Given the description of an element on the screen output the (x, y) to click on. 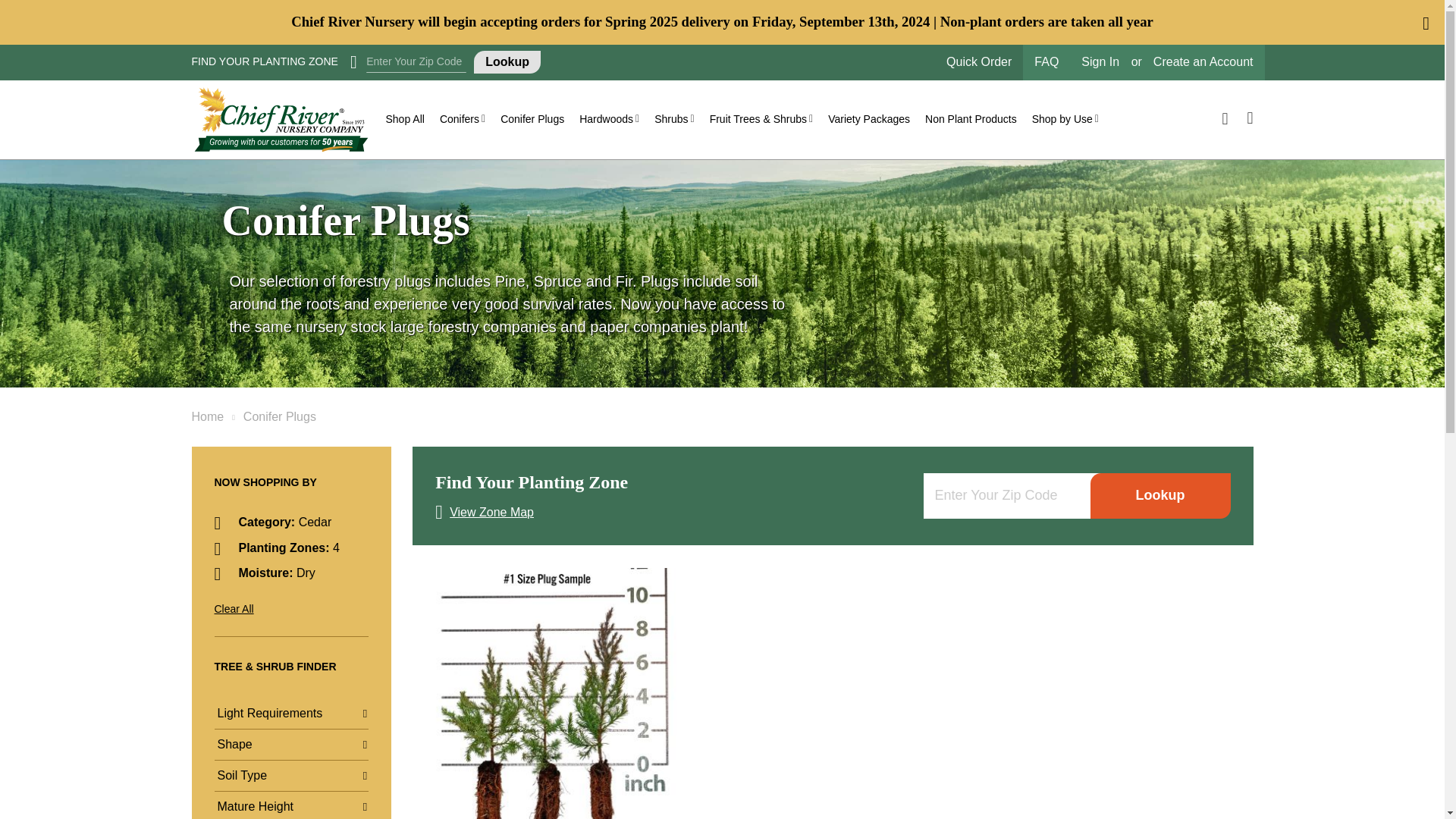
Zip Code (415, 61)
Go to Home Page (207, 417)
Hardwoods (609, 119)
Lookup (507, 61)
Sign In (1100, 62)
FAQ (1045, 62)
Create an Account (1203, 62)
Shrubs (673, 119)
Conifer Plugs (532, 118)
Quick Order (978, 62)
Shop All (403, 119)
Chief River Nursery (279, 119)
Conifers (462, 119)
Zip Code (1006, 495)
